Given the description of an element on the screen output the (x, y) to click on. 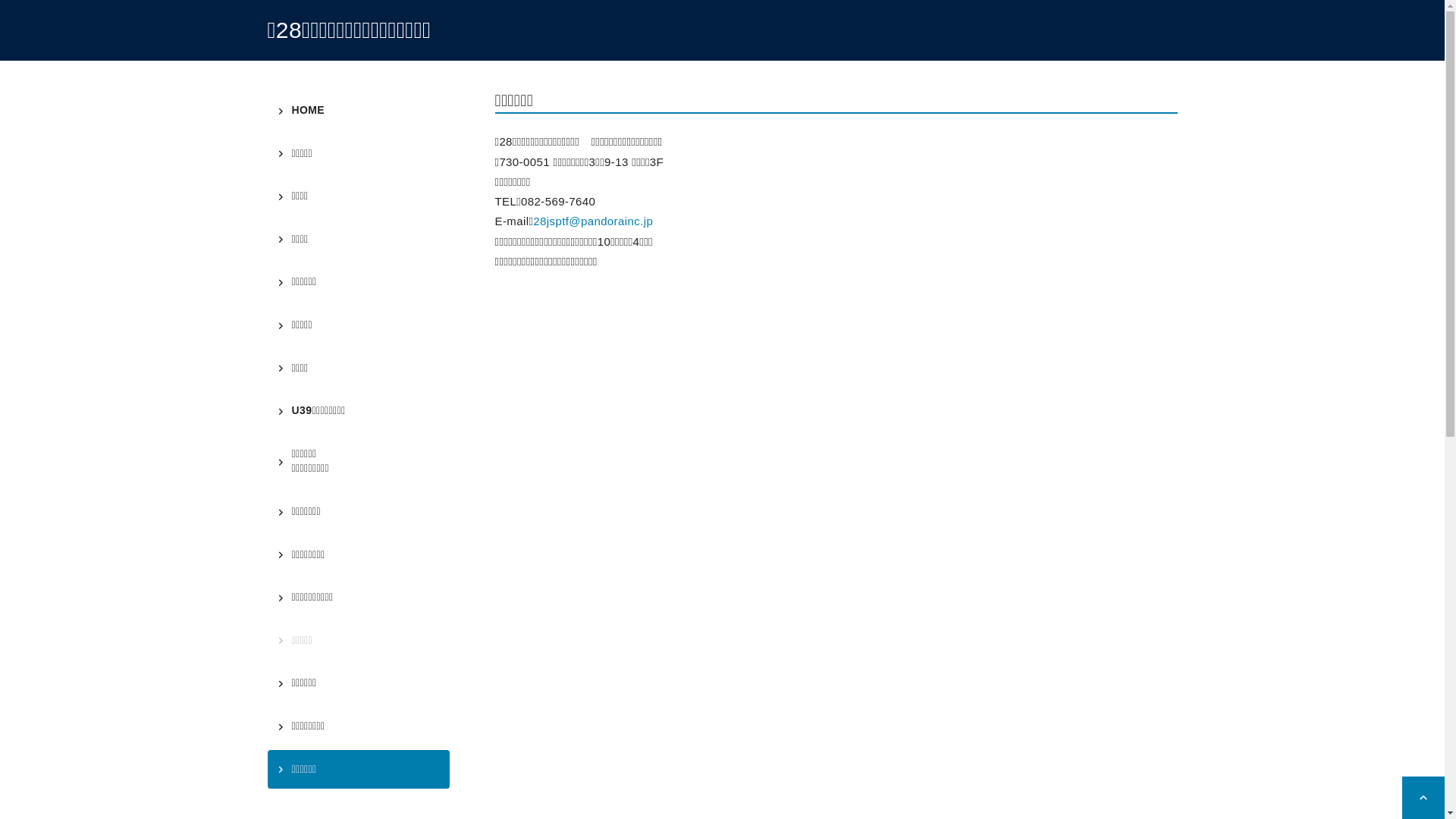
HOME Element type: text (357, 110)
28jsptf@pandorainc.jp Element type: text (592, 220)
